Given the description of an element on the screen output the (x, y) to click on. 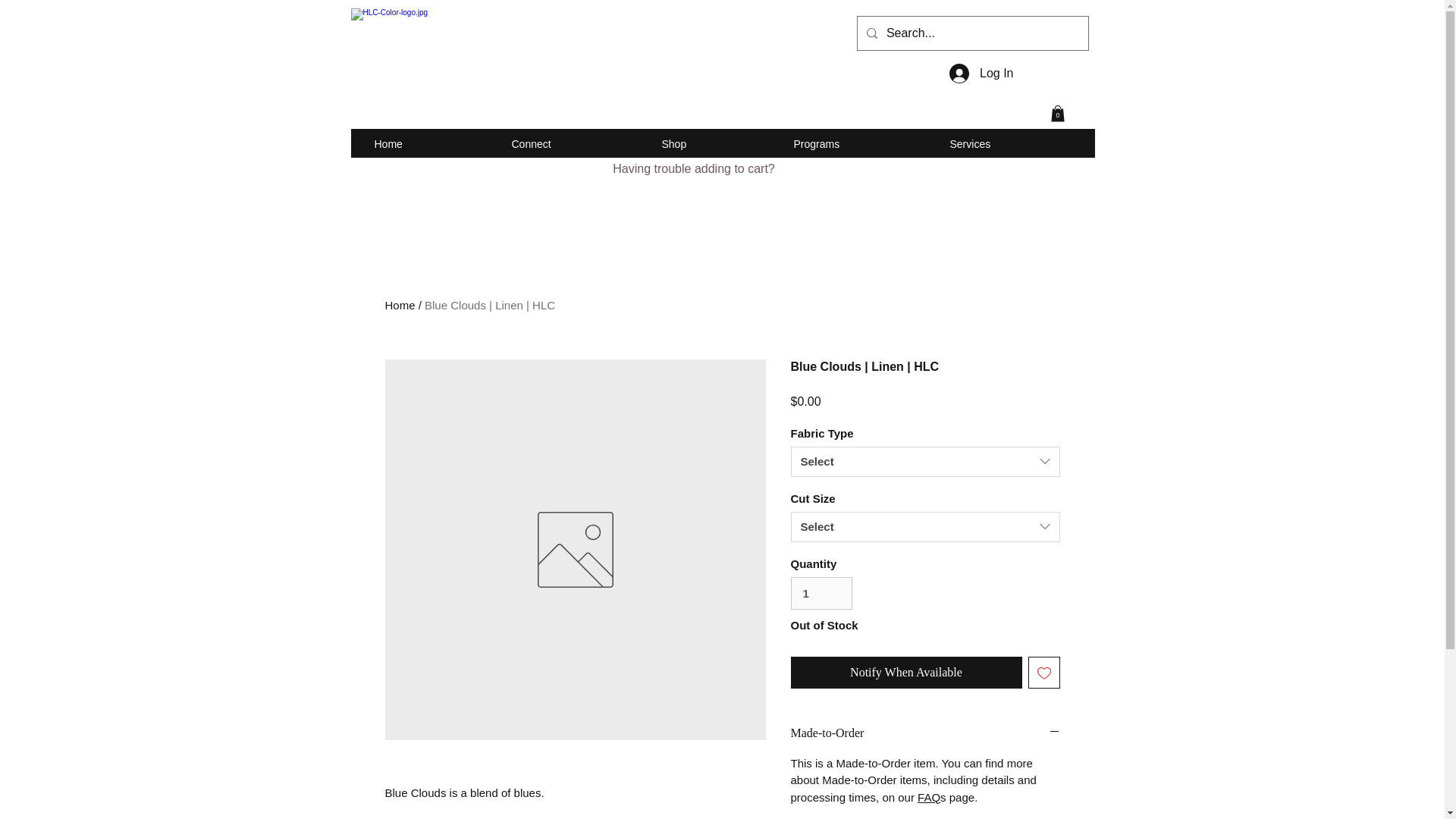
Select (924, 461)
1 (820, 593)
Select (924, 526)
Having trouble adding to cart? (693, 166)
Log In (981, 72)
Notify When Available (906, 672)
Home (399, 305)
Home (430, 144)
